Given the description of an element on the screen output the (x, y) to click on. 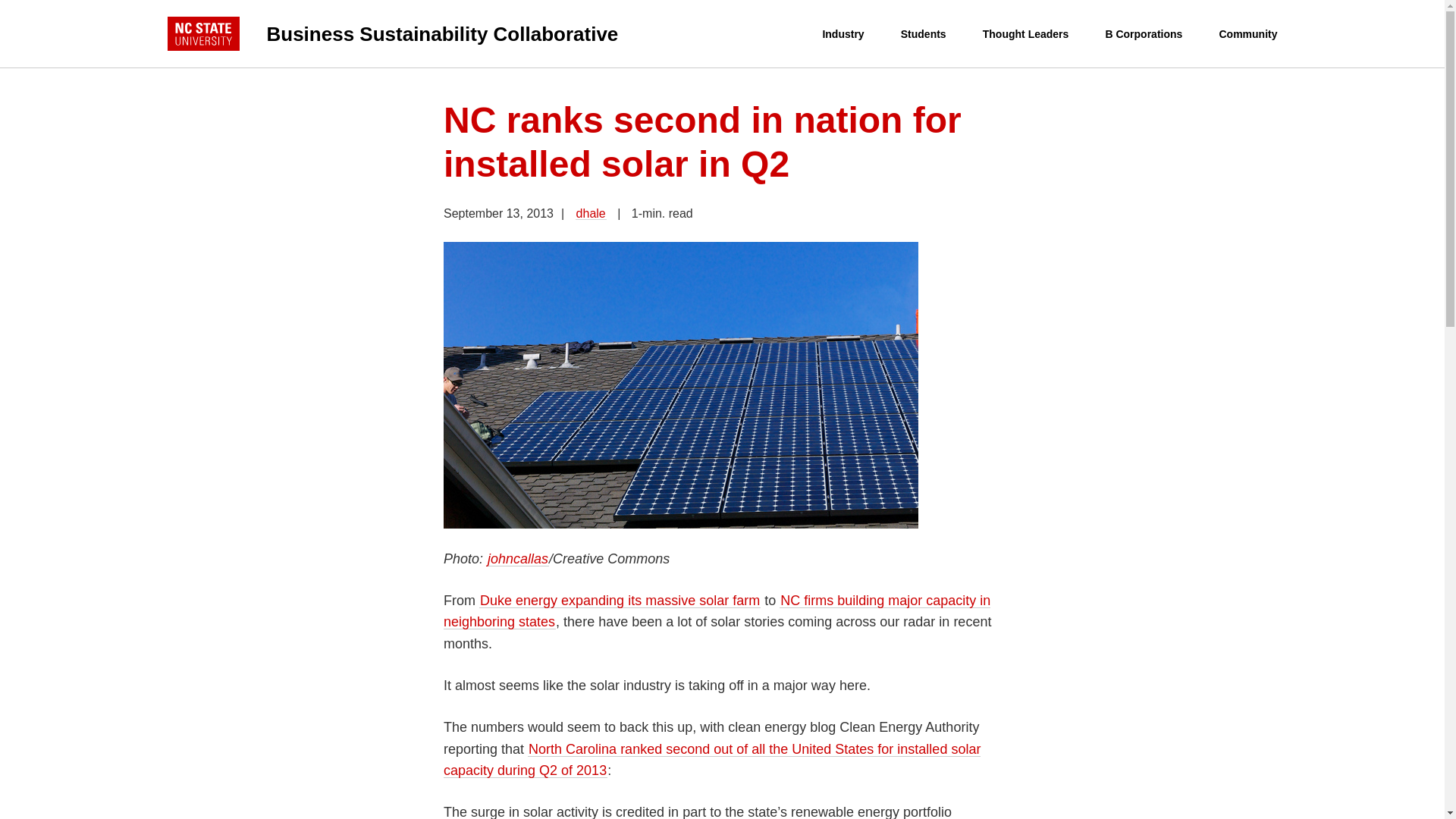
Community (1247, 34)
Students (923, 34)
Posts by dhale (591, 213)
B Corporations (1143, 34)
Business Sustainability Collaborative (494, 33)
Industry (842, 34)
Thought Leaders (1025, 34)
